Given the description of an element on the screen output the (x, y) to click on. 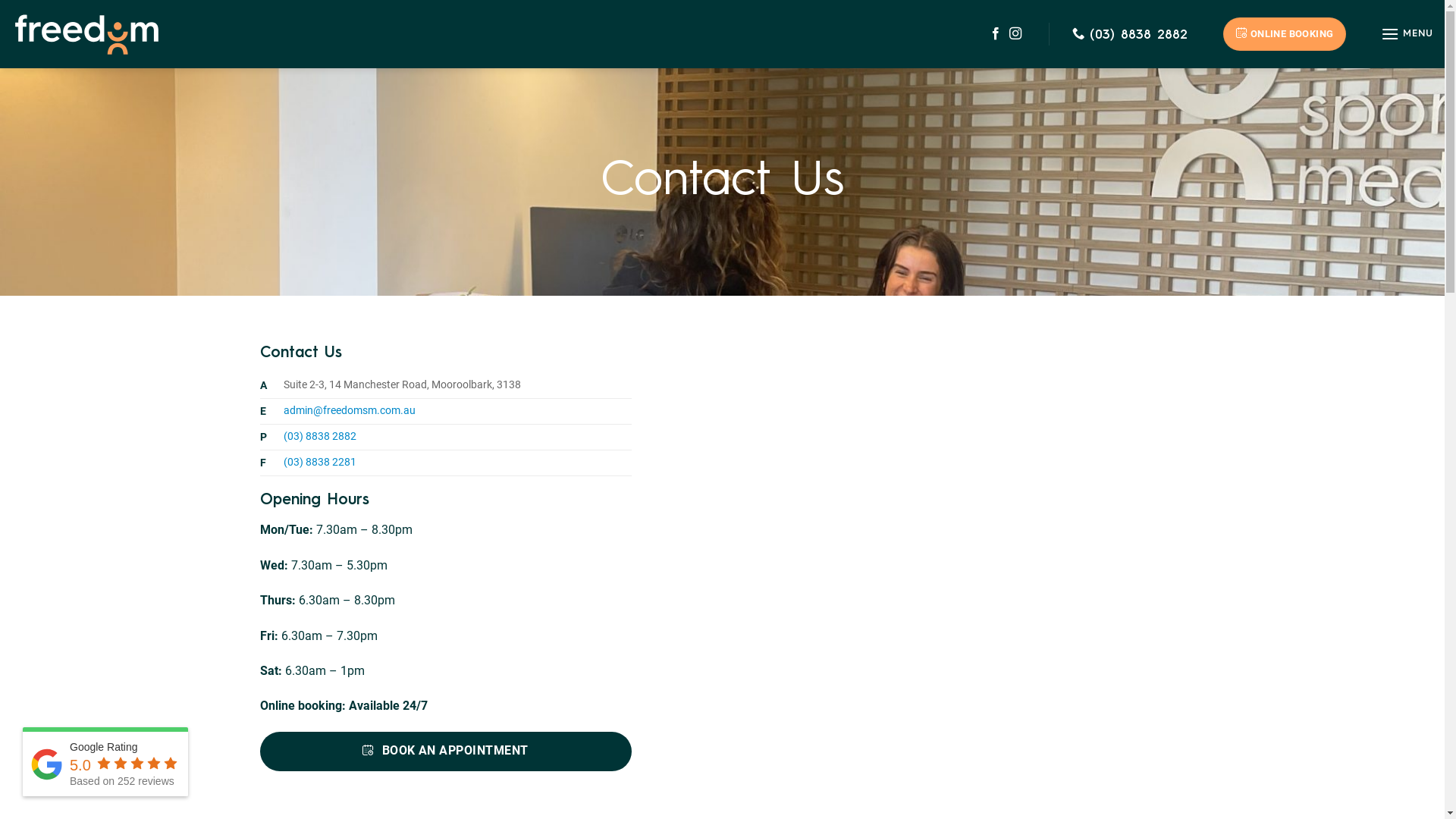
ONLINE BOOKING Element type: text (1284, 33)
(03) 8838 2882 Element type: text (1129, 33)
MENU Element type: text (1406, 33)
(03) 8838 2882 Element type: text (319, 435)
admin@freedomsm.com.au Element type: text (349, 410)
BOOK AN APPOINTMENT Element type: text (445, 751)
(03) 8838 2281 Element type: text (319, 461)
